Given the description of an element on the screen output the (x, y) to click on. 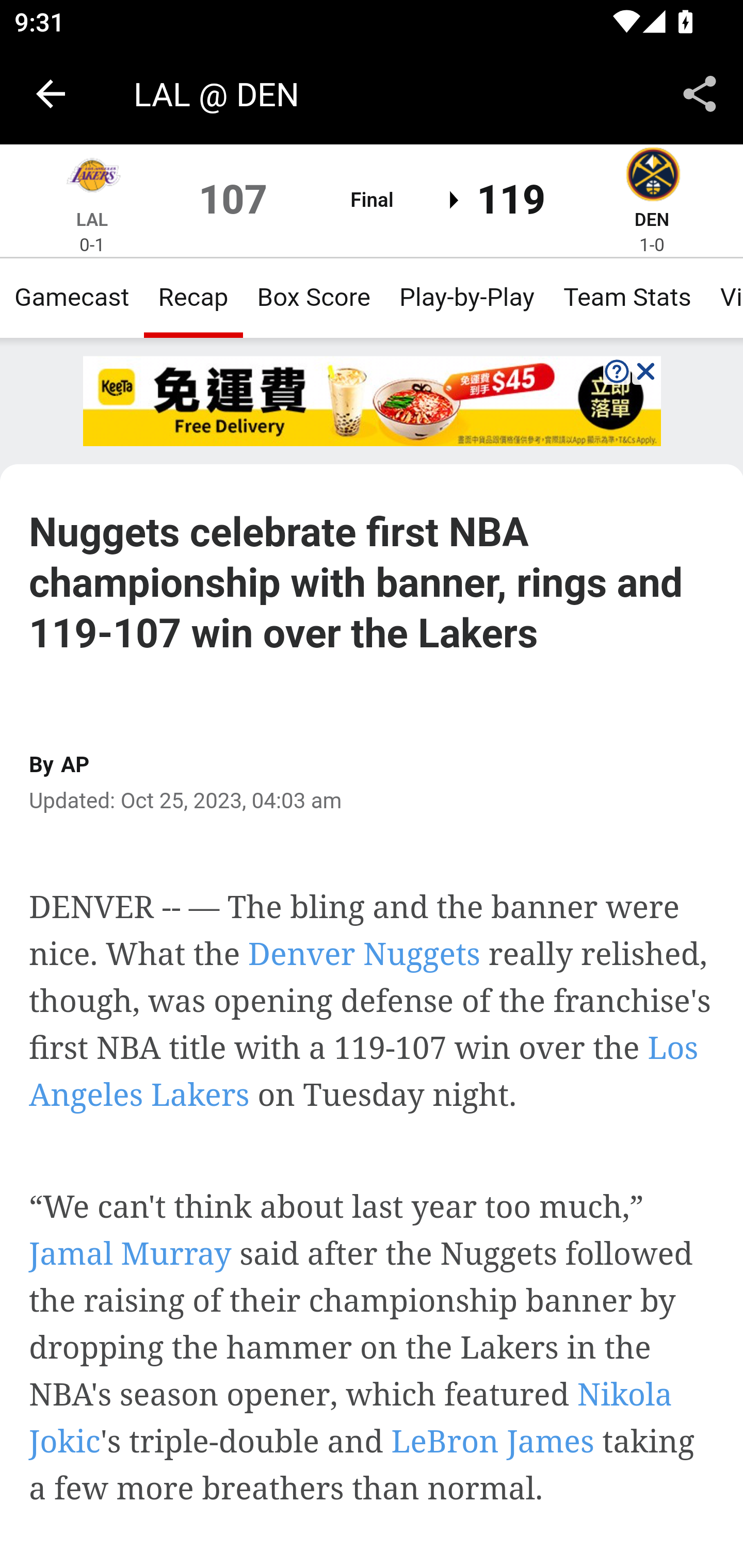
Navigate up (50, 93)
Share (699, 93)
Los Angeles Lakers (91, 177)
Denver Nuggets (651, 177)
LAL (92, 219)
DEN (651, 219)
Gamecast (72, 296)
Recap (192, 296)
Box Score (314, 296)
Play-by-Play (466, 296)
Team Stats (627, 296)
Denver Nuggets (363, 953)
Los Angeles Lakers (363, 1070)
Jamal Murray (130, 1254)
Nikola Jokic (350, 1417)
LeBron James (492, 1440)
